Given the description of an element on the screen output the (x, y) to click on. 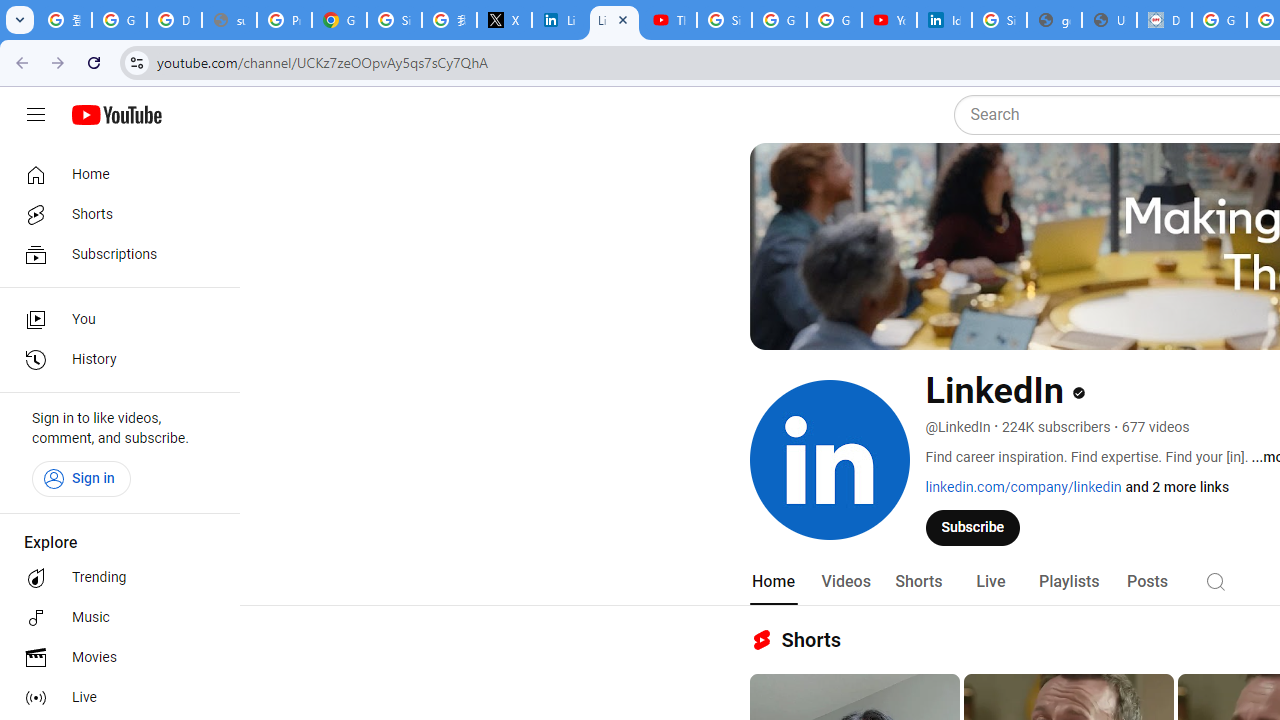
Live (990, 581)
Shorts (113, 214)
Music (113, 617)
Playlists (1068, 581)
linkedin.com/company/linkedin (1023, 487)
Posts (1147, 581)
X (504, 20)
Privacy Help Center - Policies Help (284, 20)
Live (113, 697)
